Given the description of an element on the screen output the (x, y) to click on. 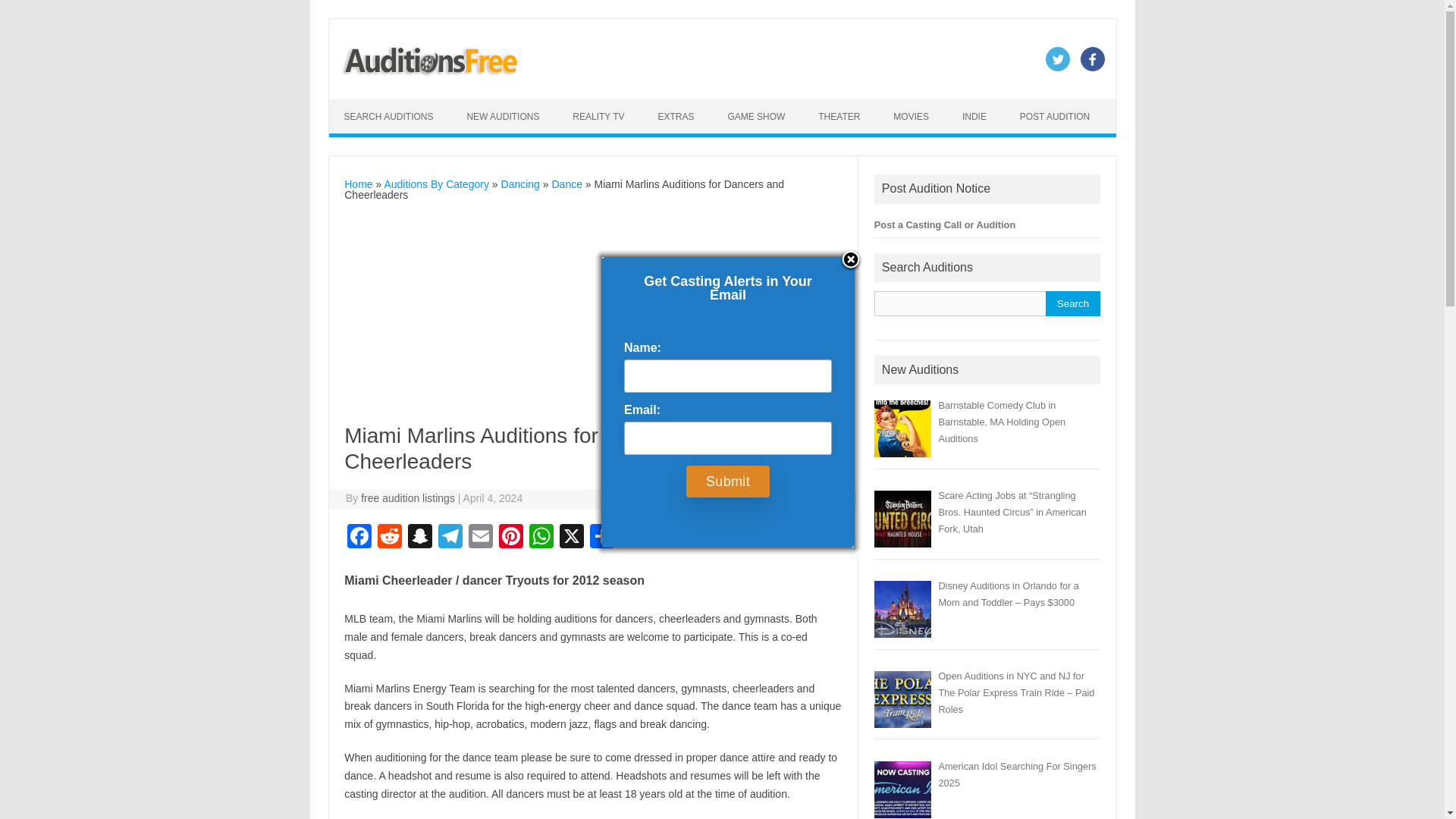
POST AUDITION (1054, 116)
Pinterest (510, 538)
Telegram (450, 538)
Email (480, 538)
Home (357, 184)
0 Comment (817, 498)
Snapchat (419, 538)
Auditions Free (430, 73)
Facebook (358, 538)
MOVIES (910, 116)
Dance (565, 184)
Reddit (389, 538)
Telegram (450, 538)
Search (1072, 303)
Advertisement (593, 316)
